Given the description of an element on the screen output the (x, y) to click on. 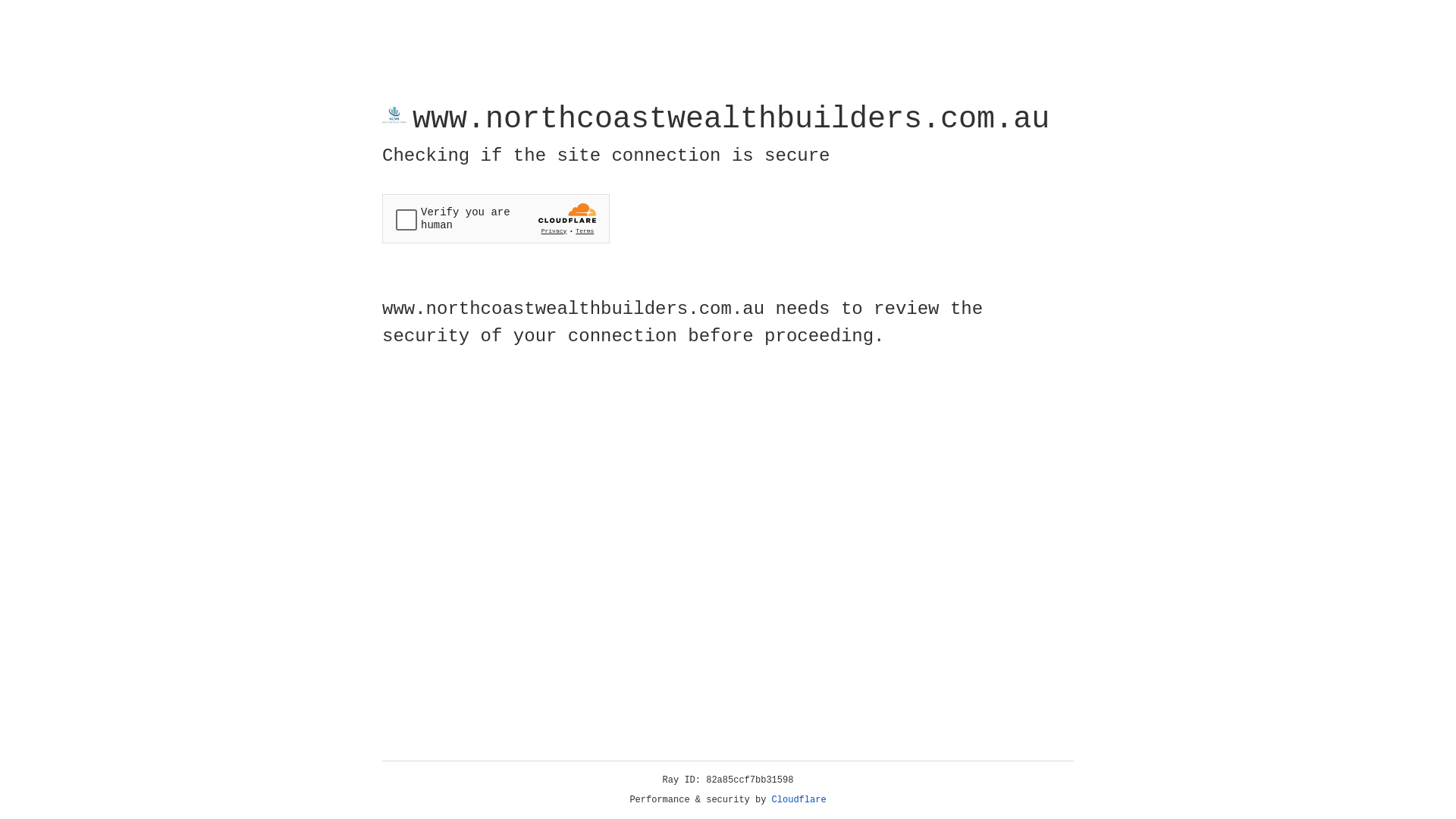
Widget containing a Cloudflare security challenge Element type: hover (495, 218)
Cloudflare Element type: text (798, 799)
